Given the description of an element on the screen output the (x, y) to click on. 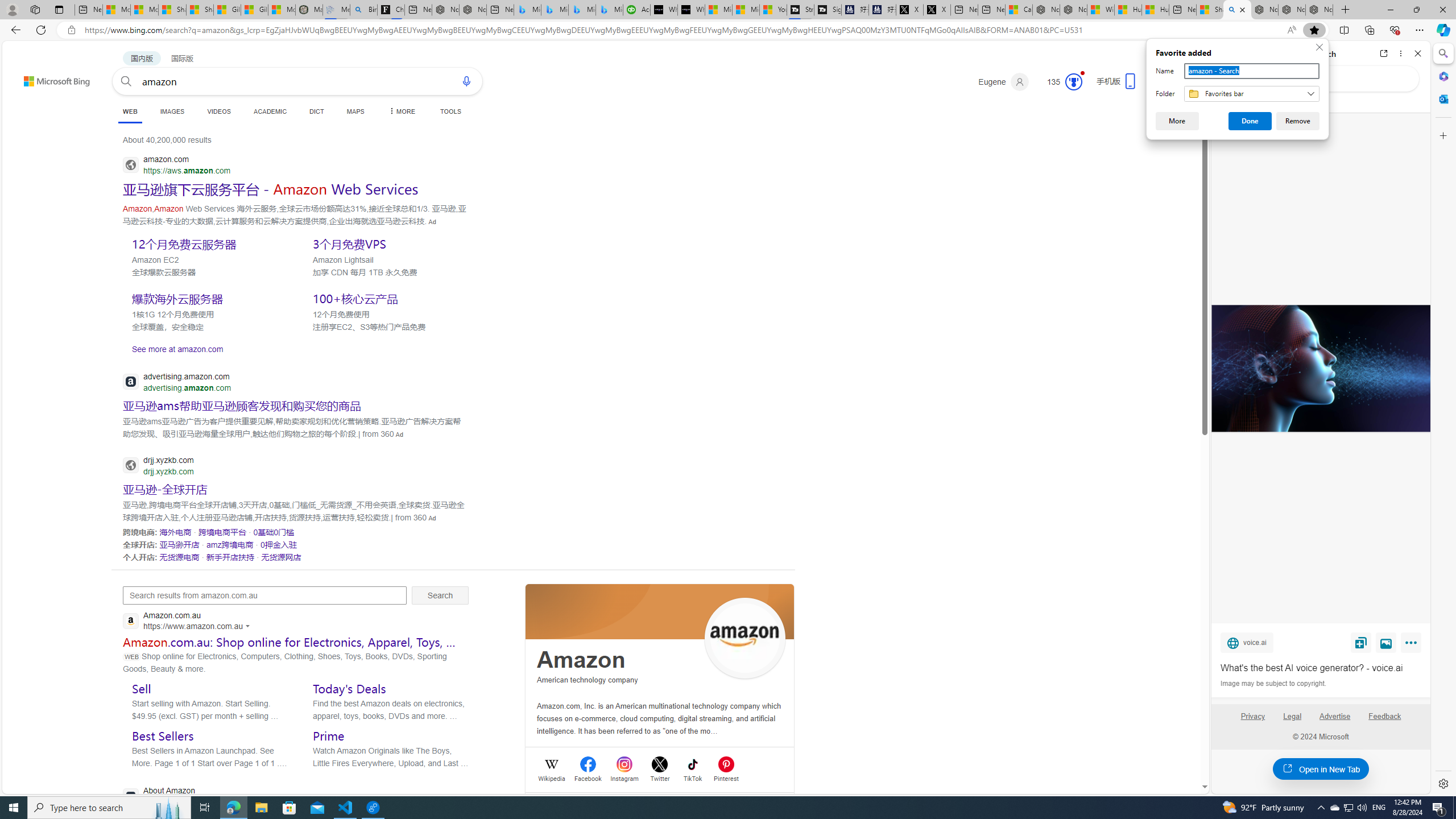
SERP,5550 (207, 243)
SERP,5568 (273, 532)
Sell (141, 688)
Today's Deals (349, 688)
Accounting Software for Accountants, CPAs and Bookkeepers (636, 9)
Task View (204, 807)
SERP,5569 (178, 544)
